Given the description of an element on the screen output the (x, y) to click on. 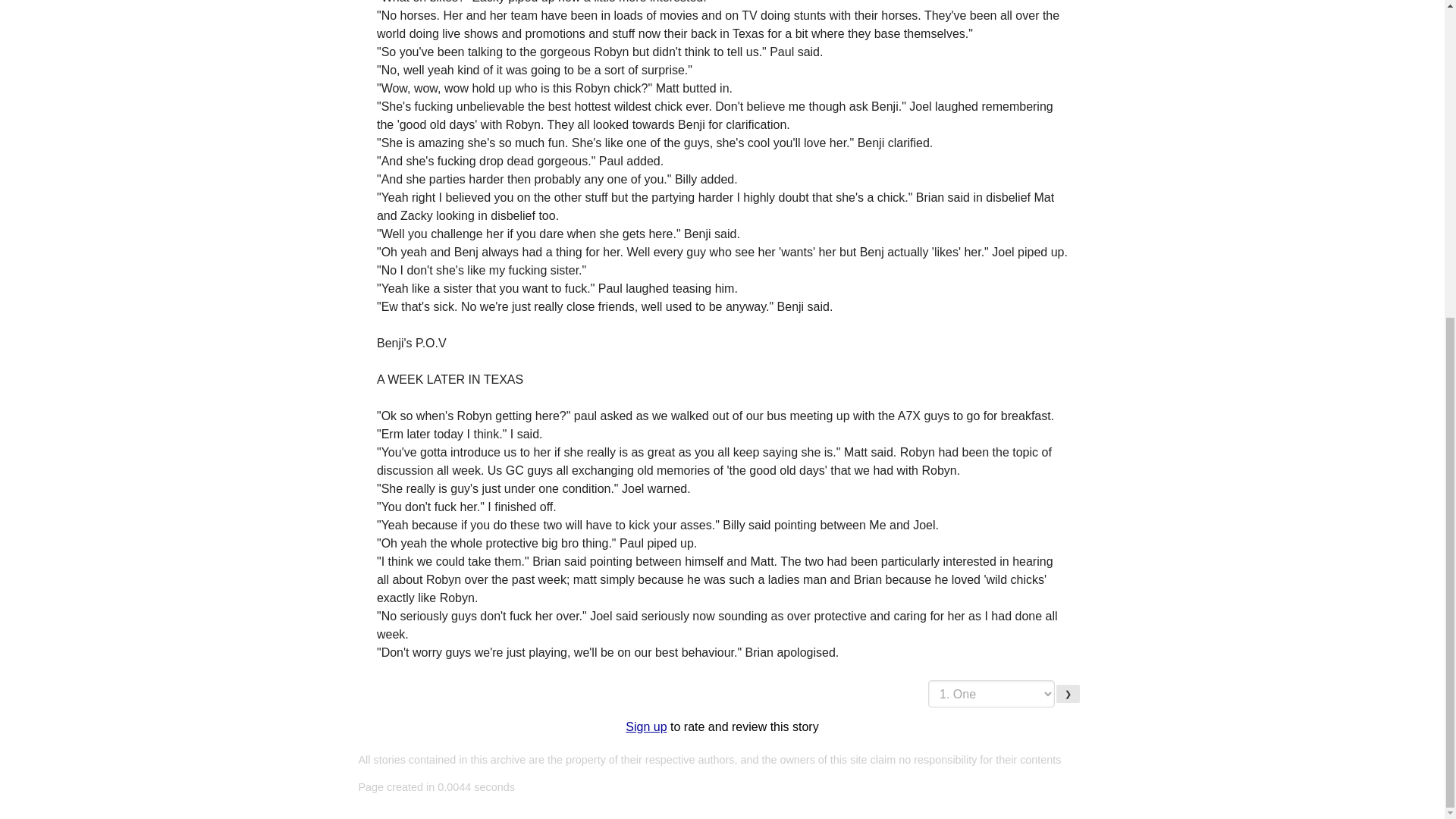
Sign up (646, 726)
